Given the description of an element on the screen output the (x, y) to click on. 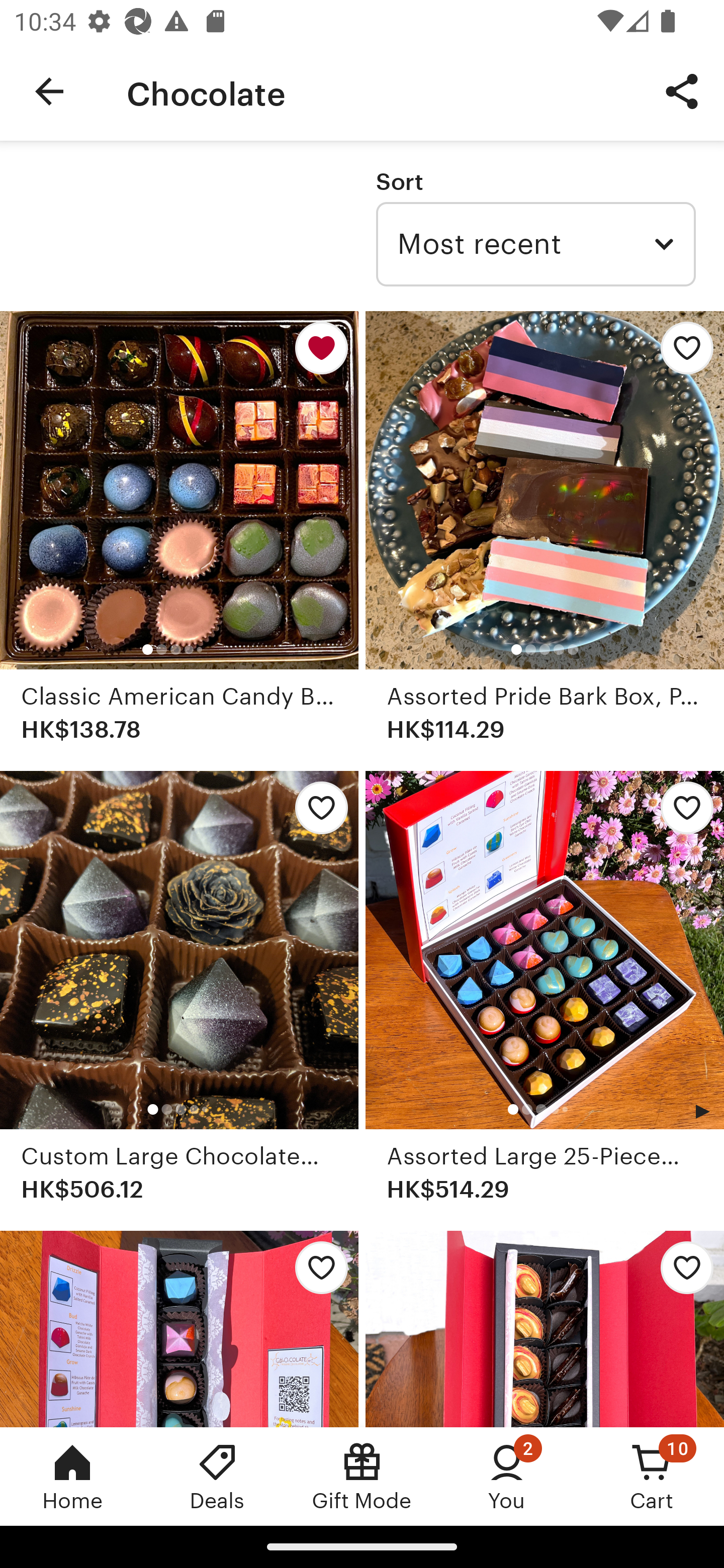
Navigate up (49, 91)
Share Button (681, 90)
Sort (399, 181)
Most recent (535, 244)
Add Custom Large Chocolate Box to favorites (315, 813)
Add Custom Medium Chocolate Box to favorites (681, 1272)
Deals (216, 1475)
Gift Mode (361, 1475)
You, 2 new notifications You (506, 1475)
Cart, 10 new notifications Cart (651, 1475)
